Given the description of an element on the screen output the (x, y) to click on. 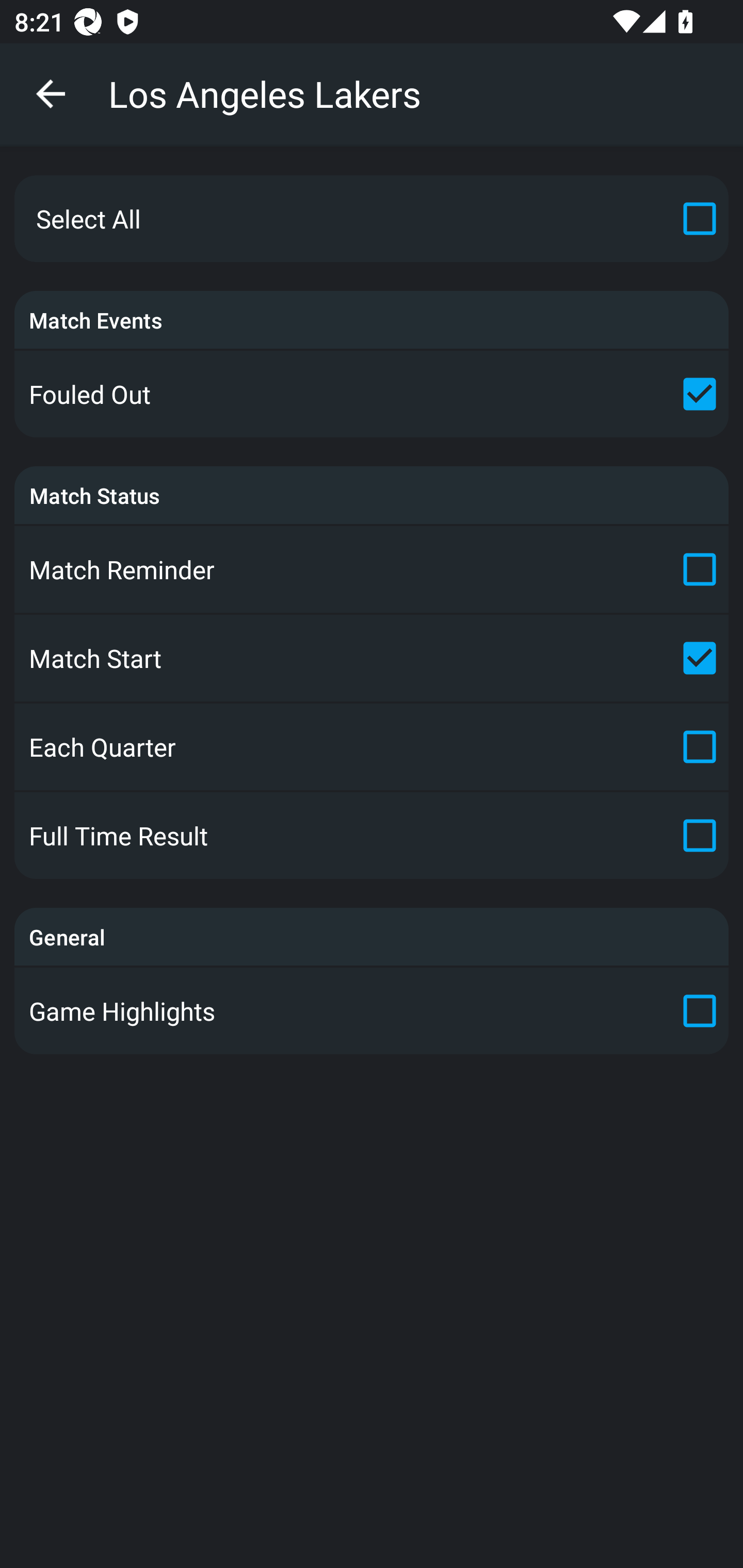
Navigate up (50, 93)
Fouled Out (371, 394)
Match Reminder (371, 569)
Match Start (371, 657)
Each Quarter (371, 747)
Full Time Result (371, 835)
Game Highlights (371, 1010)
